Given the description of an element on the screen output the (x, y) to click on. 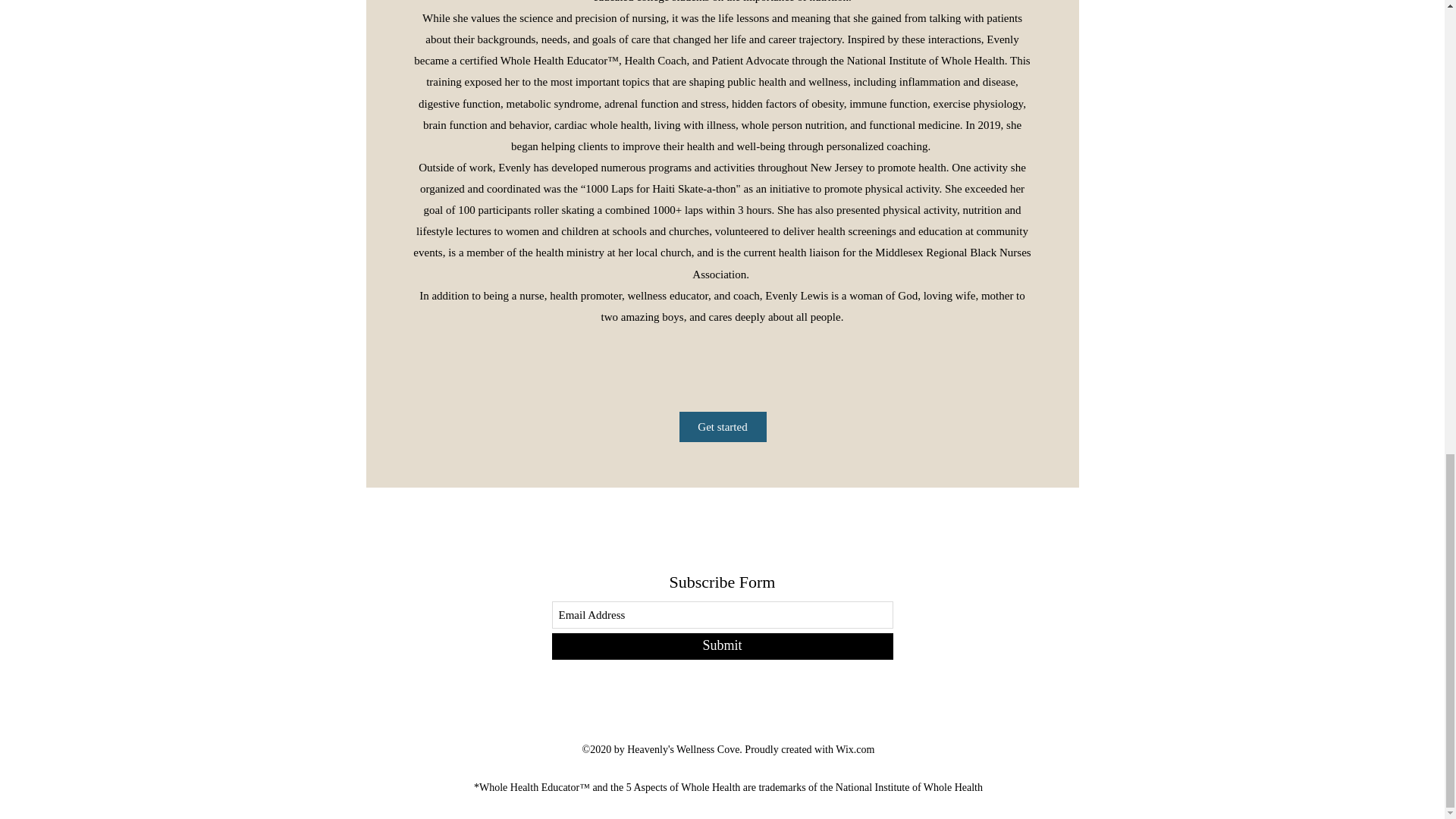
Get started (723, 426)
Submit (722, 646)
